Given the description of an element on the screen output the (x, y) to click on. 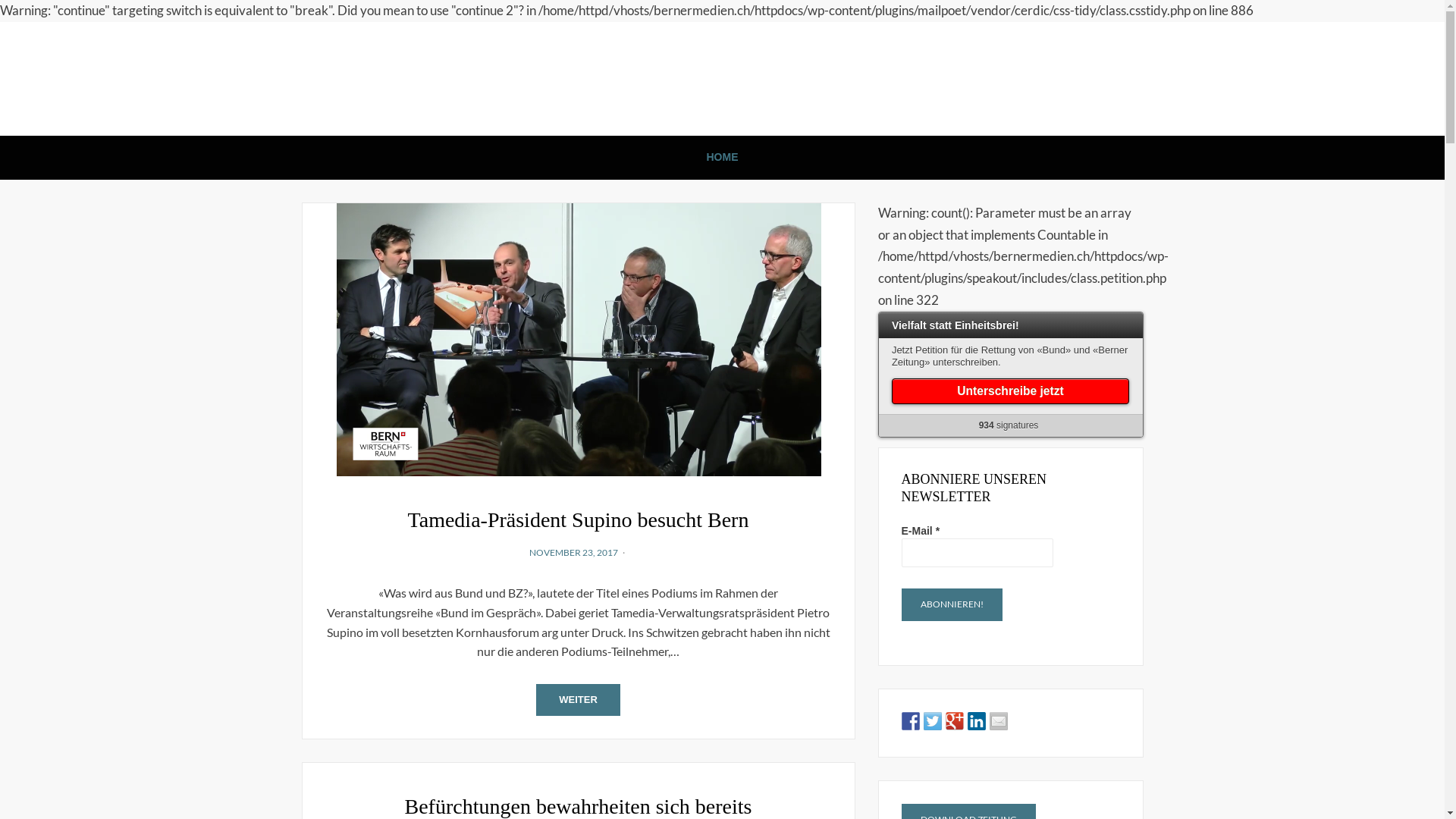
E-Mail Element type: hover (976, 552)
HOME Element type: text (722, 157)
NOVEMBER 23, 2017 Element type: text (573, 552)
Unterschreibe jetzt Element type: text (1010, 390)
Abonnieren! Element type: text (950, 604)
WEITER Element type: text (578, 699)
